Given the description of an element on the screen output the (x, y) to click on. 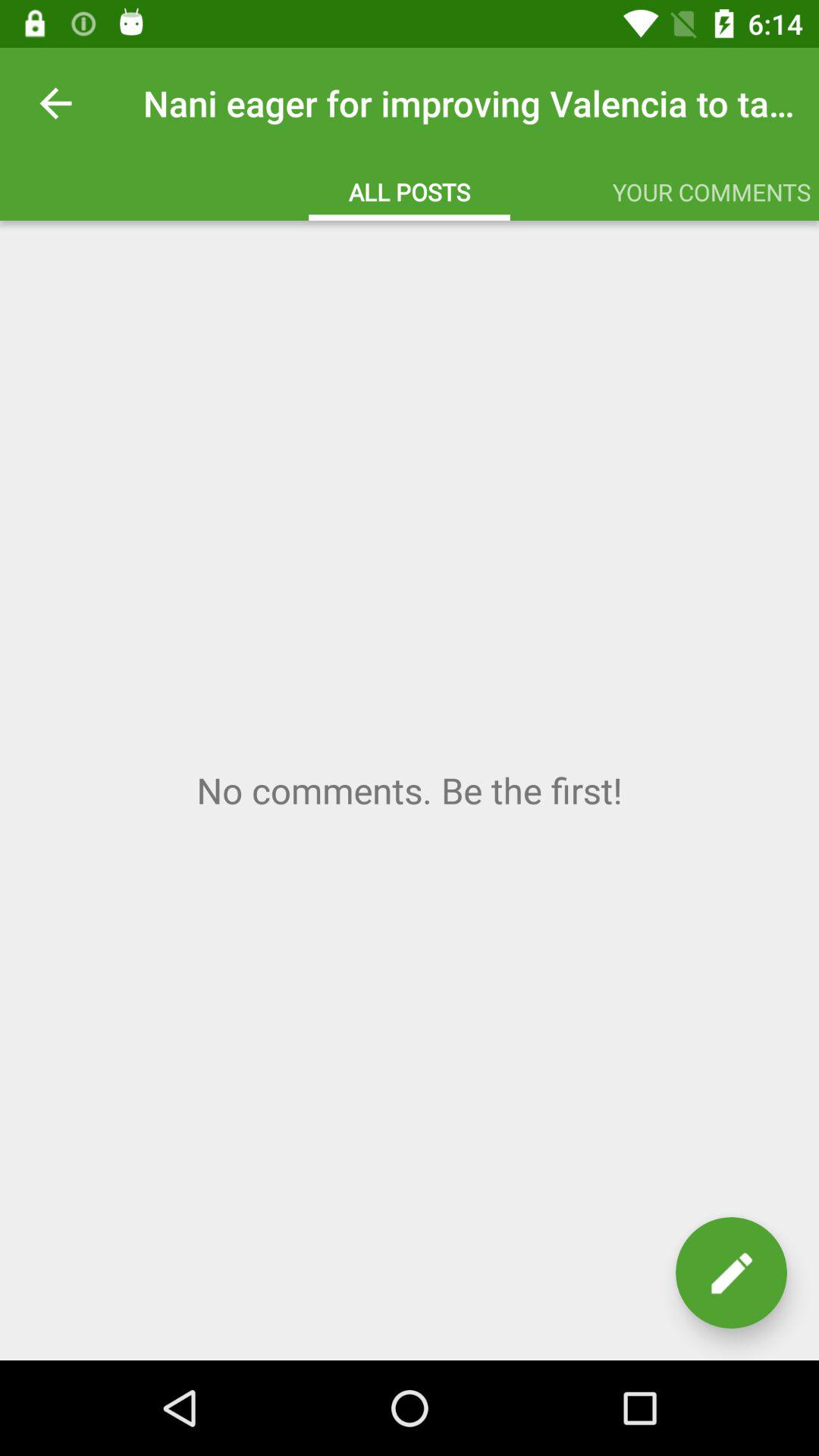
click icon next to nani eager for icon (55, 103)
